Given the description of an element on the screen output the (x, y) to click on. 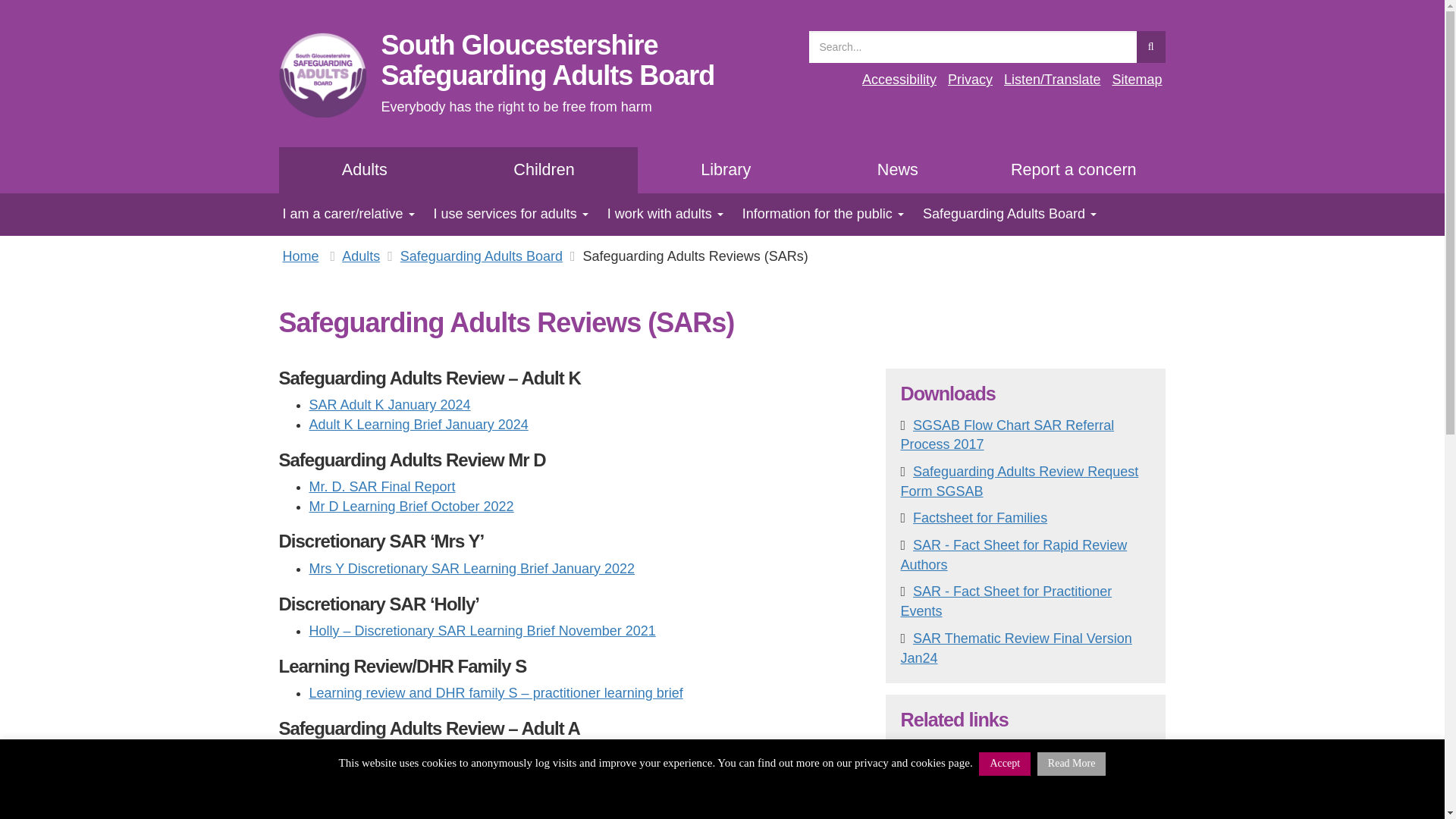
Children (543, 170)
Sitemap (1136, 79)
Report a concern (1073, 170)
Privacy (969, 79)
I use services for adults (504, 213)
I work with adults (659, 213)
Adults (547, 59)
Library (365, 170)
Accessibility (725, 170)
